Given the description of an element on the screen output the (x, y) to click on. 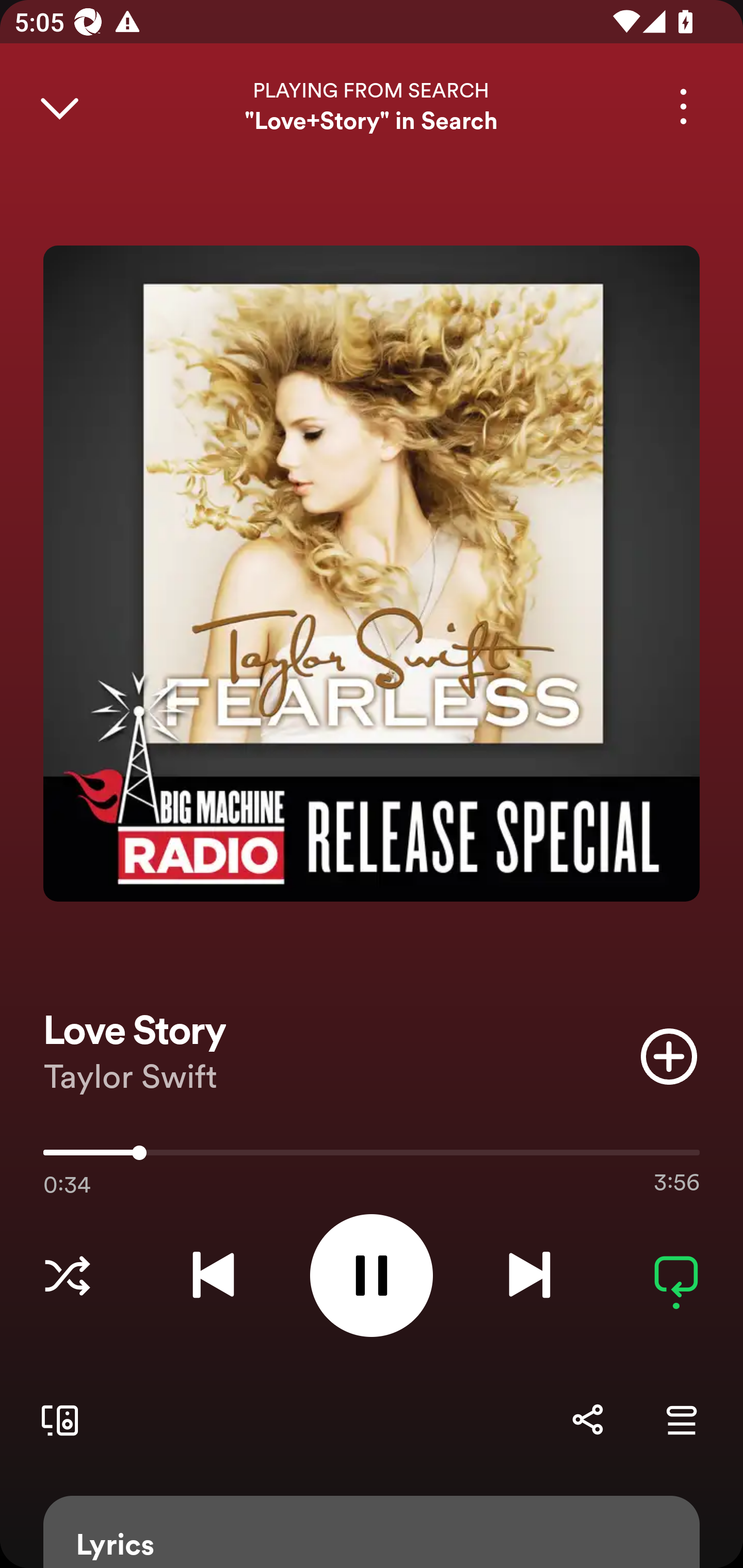
Close (59, 106)
More options for song Love Story (683, 106)
PLAYING FROM SEARCH "Love+Story" in Search (371, 106)
Add item (669, 1056)
0:34 3:56 34499.0 Use volume keys to adjust (371, 1157)
Pause (371, 1275)
Previous (212, 1275)
Next (529, 1275)
Choose a Listening Mode (66, 1275)
Repeat (676, 1275)
Share (587, 1419)
Go to Queue (681, 1419)
Connect to a device. Opens the devices menu (55, 1419)
Lyrics (371, 1531)
